Given the description of an element on the screen output the (x, y) to click on. 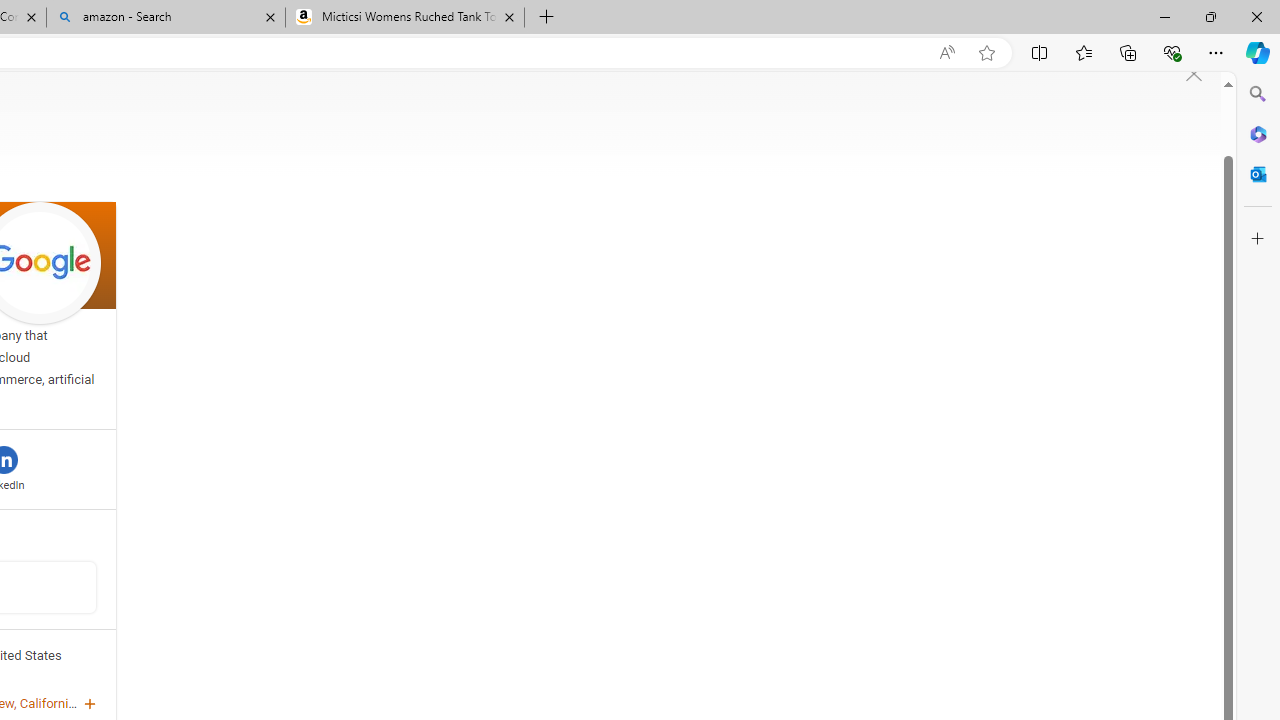
Class: rms_img (1193, 74)
